Given the description of an element on the screen output the (x, y) to click on. 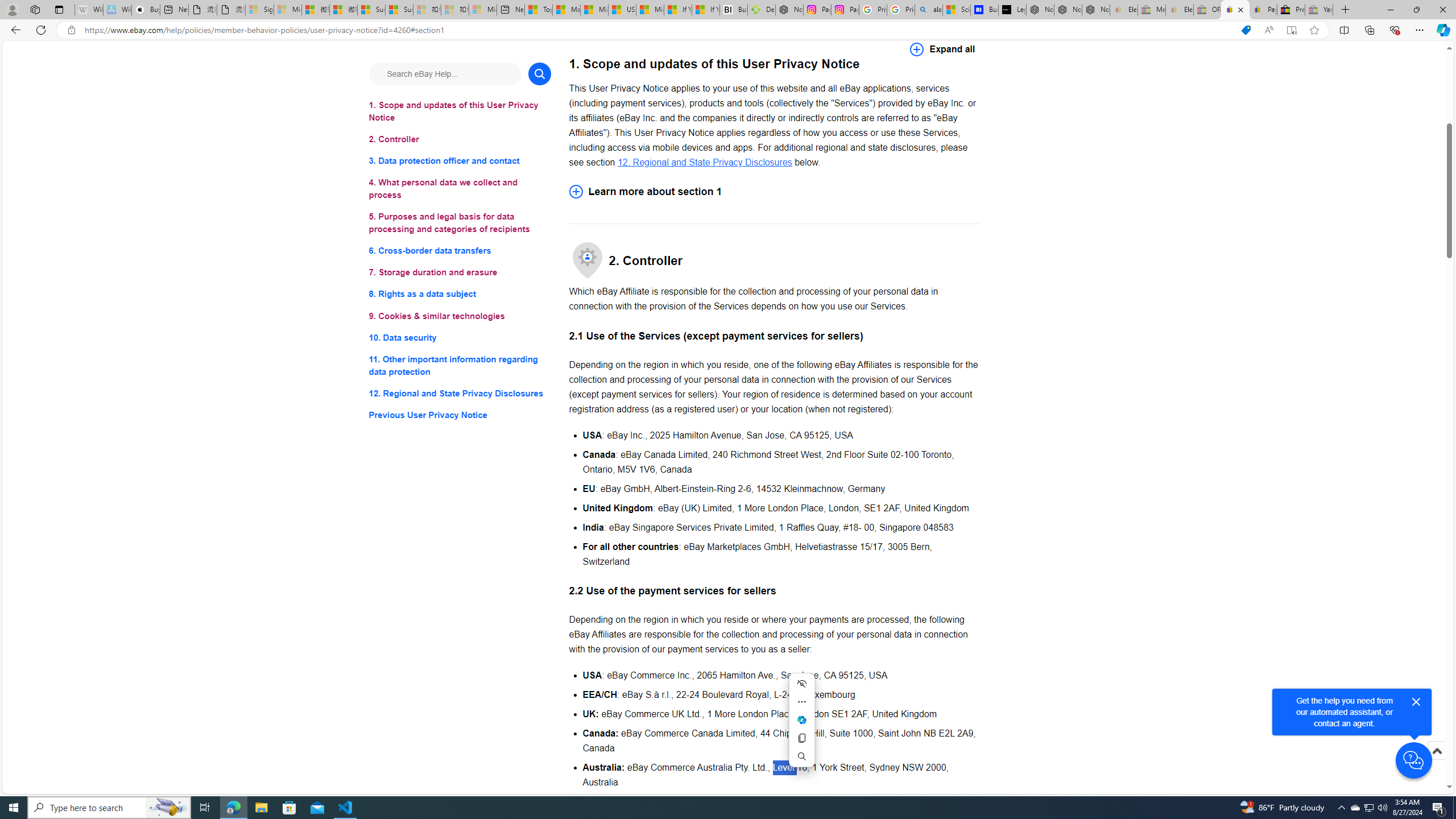
3. Data protection officer and contact (459, 160)
Copy (801, 737)
Buy iPad - Apple (145, 9)
4. What personal data we collect and process (459, 189)
US Heat Deaths Soared To Record High Last Year (621, 9)
Yard, Garden & Outdoor Living - Sleeping (1319, 9)
8. Rights as a data subject (459, 293)
Previous User Privacy Notice (459, 414)
3. Data protection officer and contact (459, 160)
Mini menu on text selection (801, 719)
